Given the description of an element on the screen output the (x, y) to click on. 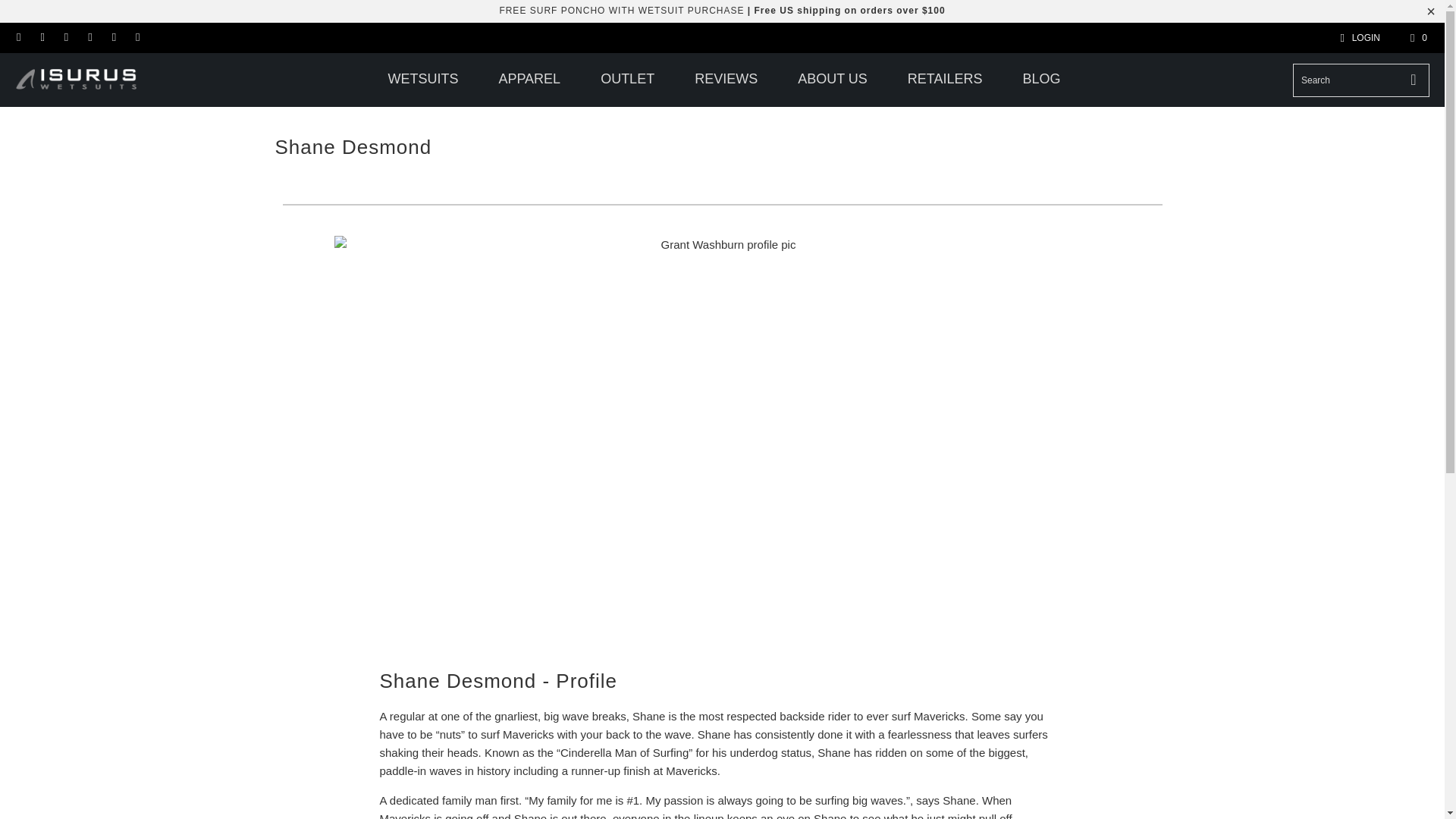
Surf Isurus on Facebook (41, 37)
Surf Isurus on Vimeo (112, 37)
My Account  (1357, 37)
Surf Isurus (84, 79)
Surf Isurus on Instagram (65, 37)
Email Surf Isurus (17, 37)
Surf Isurus on TikTok (89, 37)
Surf Isurus on YouTube (136, 37)
